Given the description of an element on the screen output the (x, y) to click on. 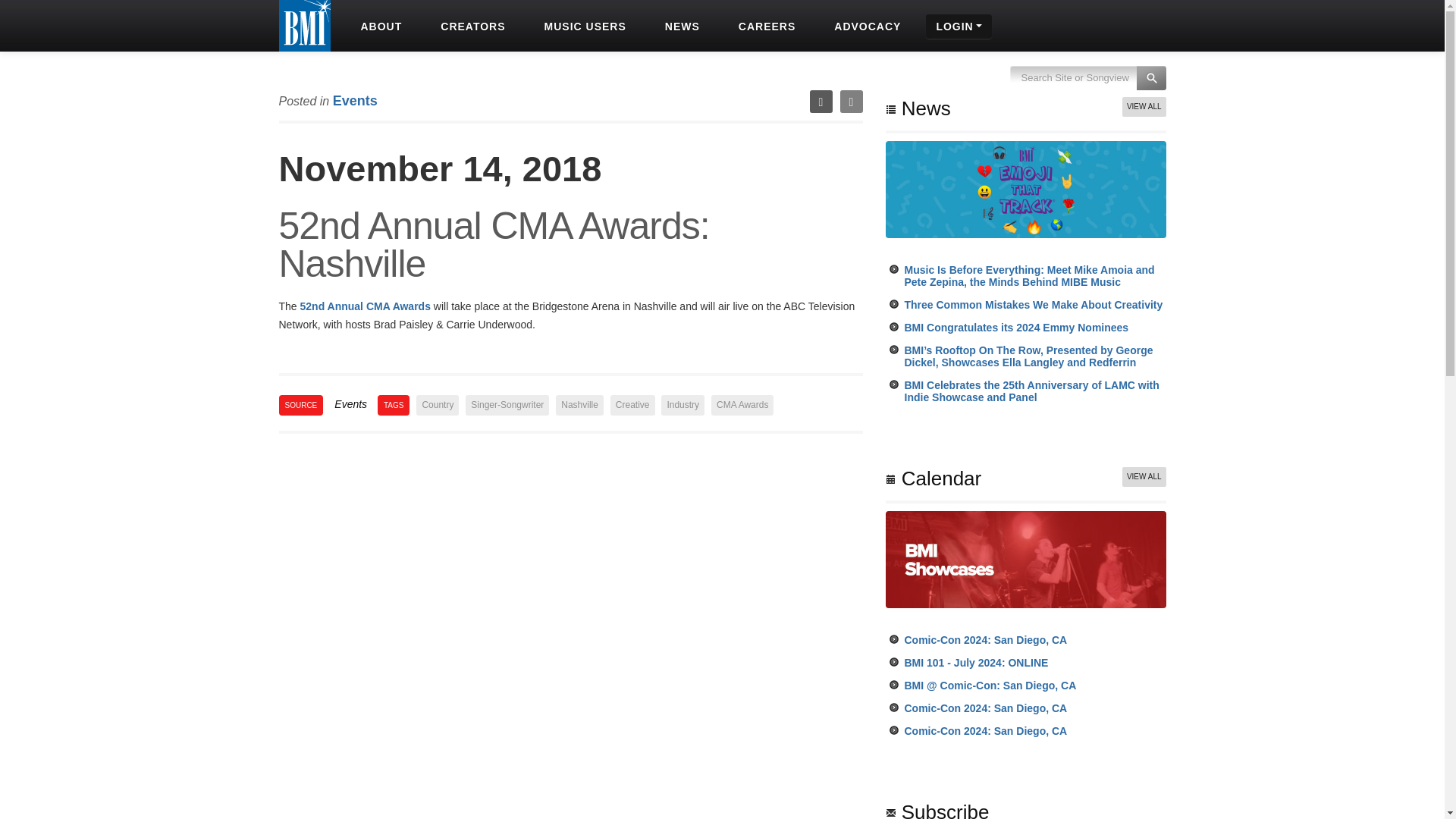
NEWS (680, 25)
clear results (1088, 87)
MUSIC USERS (583, 25)
ADVOCACY (865, 25)
CAREERS (764, 25)
ABOUT (379, 25)
CREATORS (470, 25)
